Given the description of an element on the screen output the (x, y) to click on. 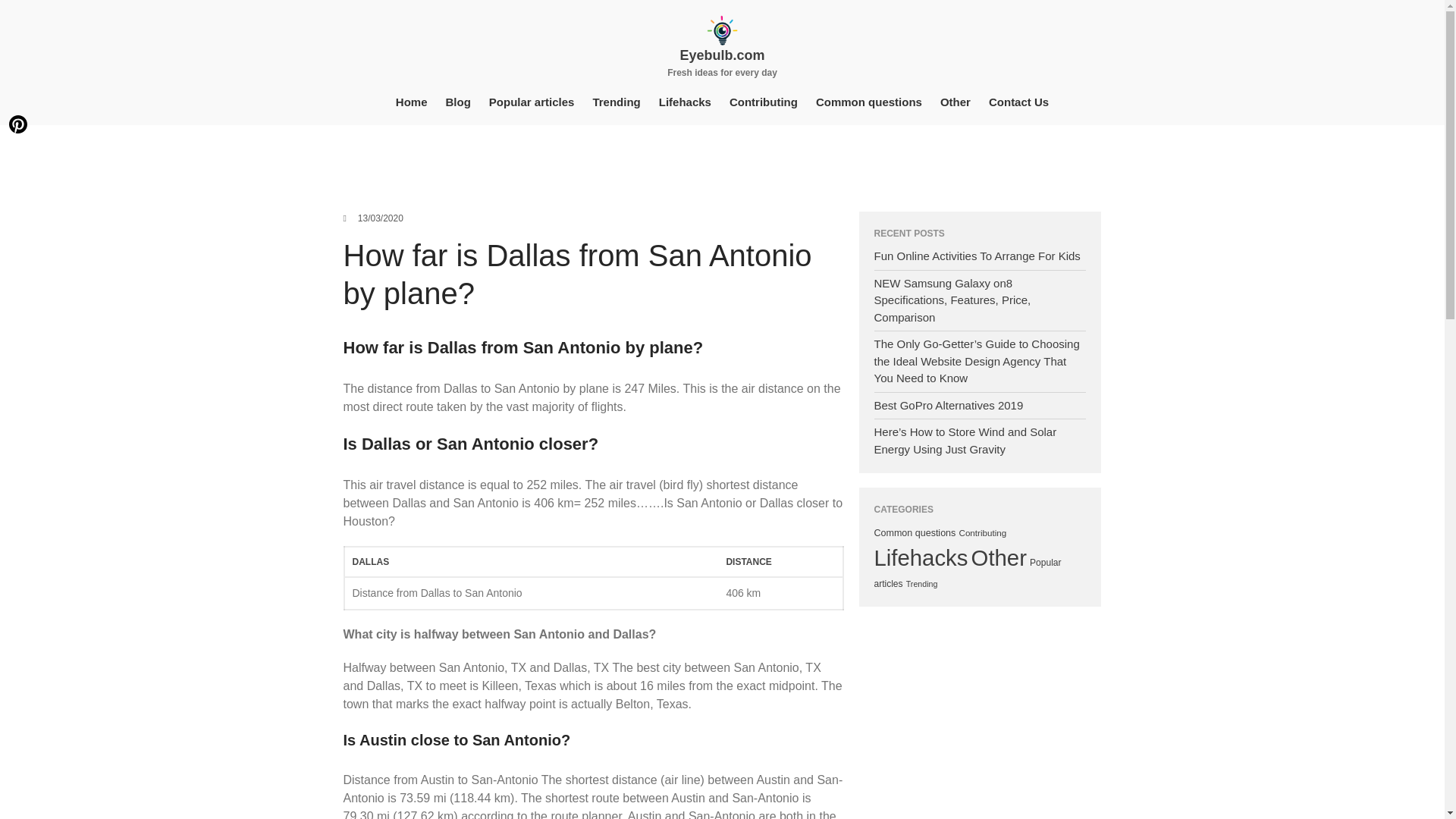
Other (998, 557)
Trending (616, 102)
Telegram (17, 276)
Messenger (17, 245)
Popular articles (531, 102)
Best GoPro Alternatives 2019 (948, 404)
Facebook (17, 93)
Home (411, 102)
Fun Online Activities To Arrange For Kids (976, 255)
Common questions (914, 532)
WhatsApp (17, 214)
Common questions (869, 102)
Eyebulb.com (721, 55)
Reddit (17, 184)
Blog (458, 102)
